Given the description of an element on the screen output the (x, y) to click on. 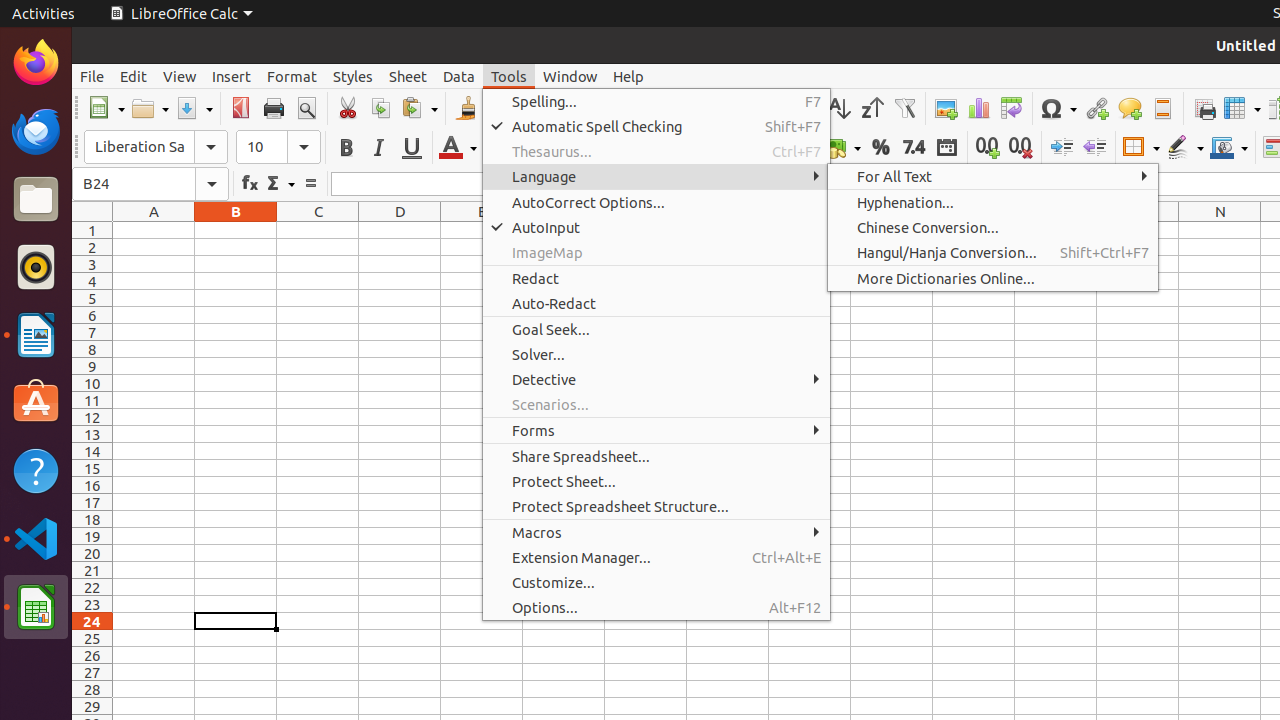
Activities Element type: label (43, 13)
Thesaurus... Element type: menu-item (656, 151)
Font Name Element type: panel (156, 147)
Italic Element type: toggle-button (378, 147)
Print Preview Element type: toggle-button (306, 108)
